Given the description of an element on the screen output the (x, y) to click on. 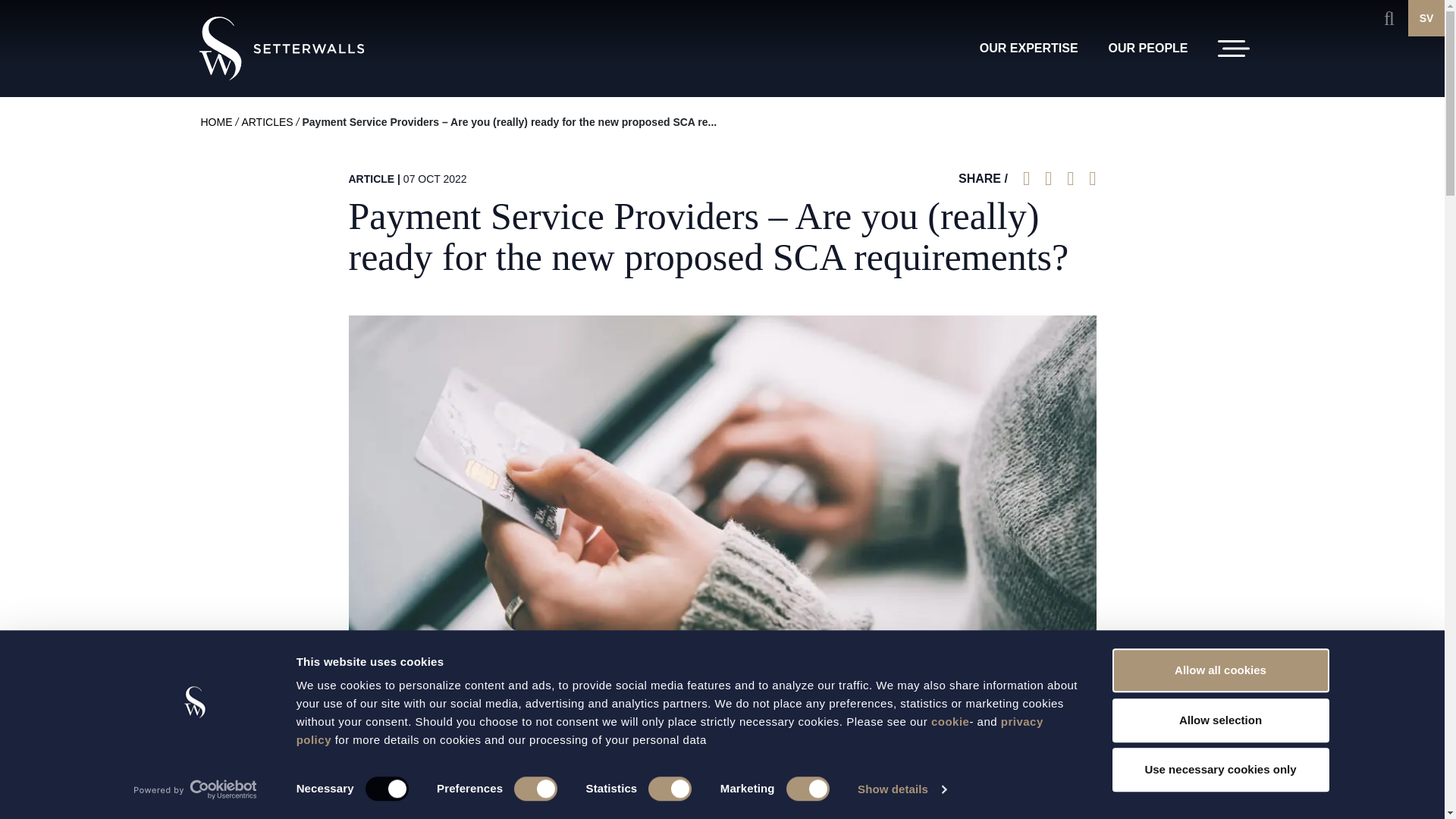
Show details (900, 789)
cookie (950, 721)
privacy policy (670, 730)
